Given the description of an element on the screen output the (x, y) to click on. 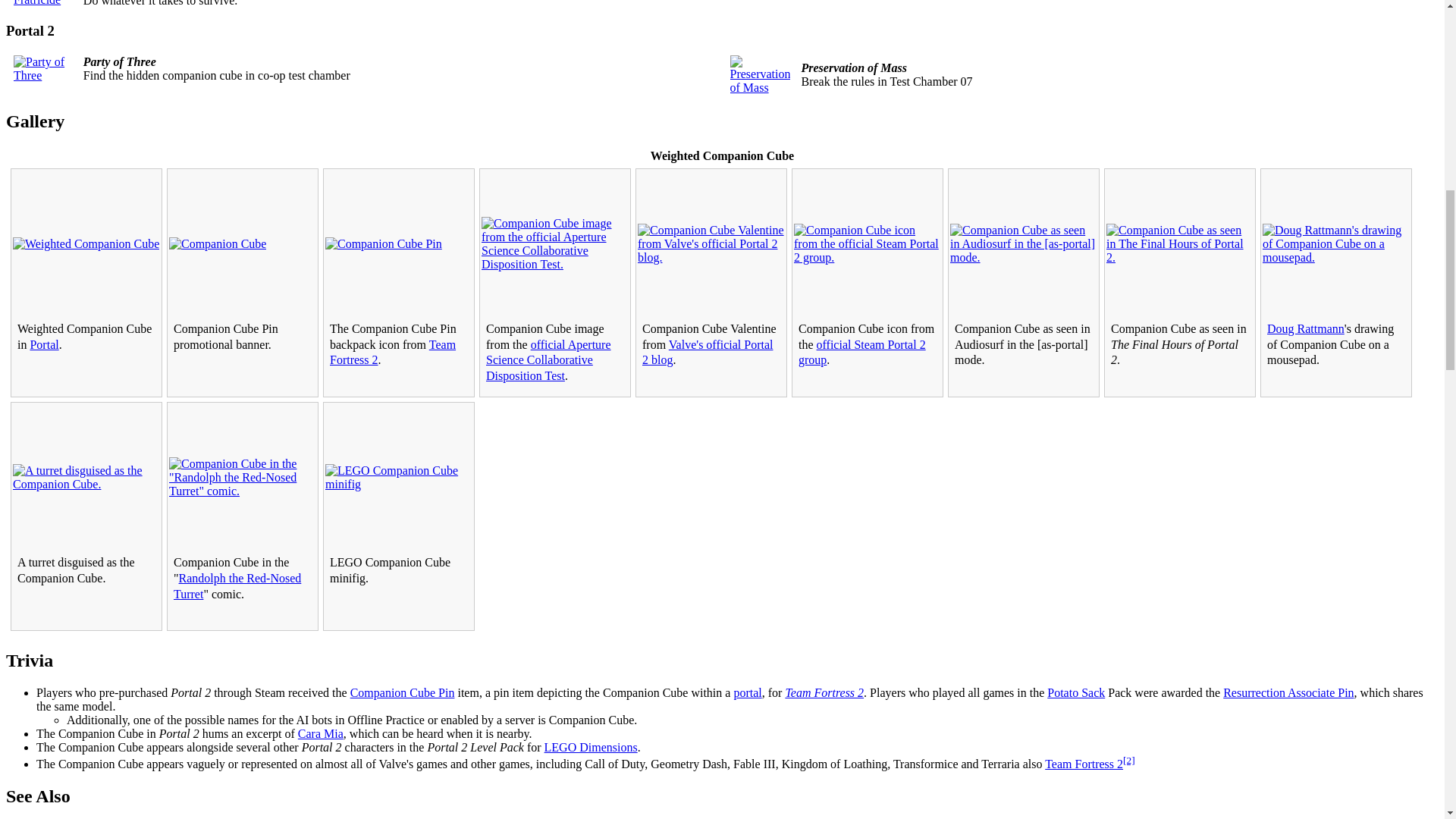
Portal (43, 344)
Team Fortress 2 (392, 352)
